Given the description of an element on the screen output the (x, y) to click on. 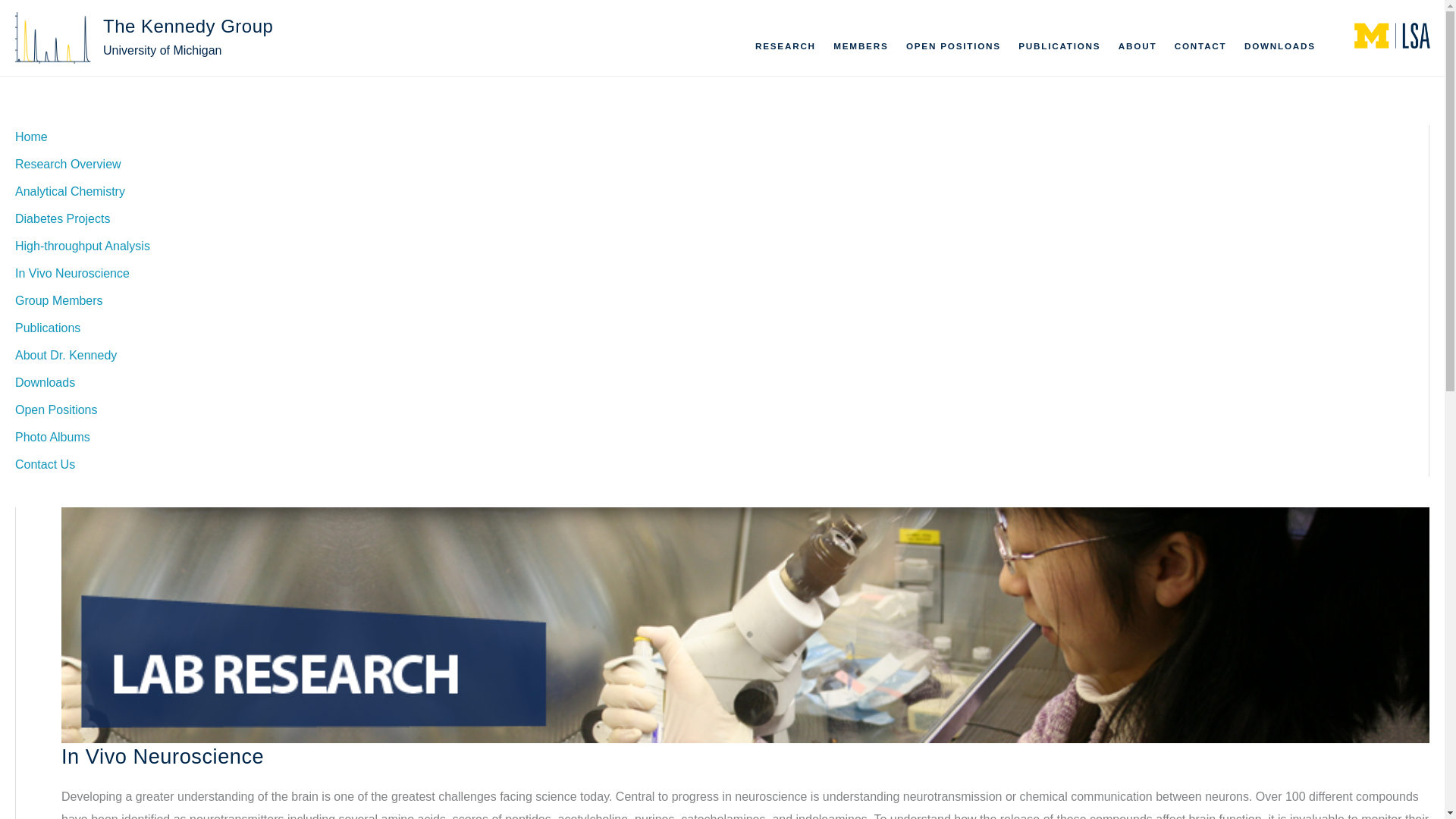
ABOUT (1137, 45)
Diabetes Projects (62, 218)
Photo Albums (52, 436)
Open Positions (55, 409)
Research Overview (67, 164)
The Kennedy Group (188, 25)
RESEARCH (784, 45)
DOWNLOADS (1278, 45)
Group Members (58, 300)
Home (31, 136)
MEMBERS (861, 45)
PUBLICATIONS (1059, 45)
Contact Us (44, 463)
Downloads (44, 382)
In Vivo Neuroscience (71, 273)
